Given the description of an element on the screen output the (x, y) to click on. 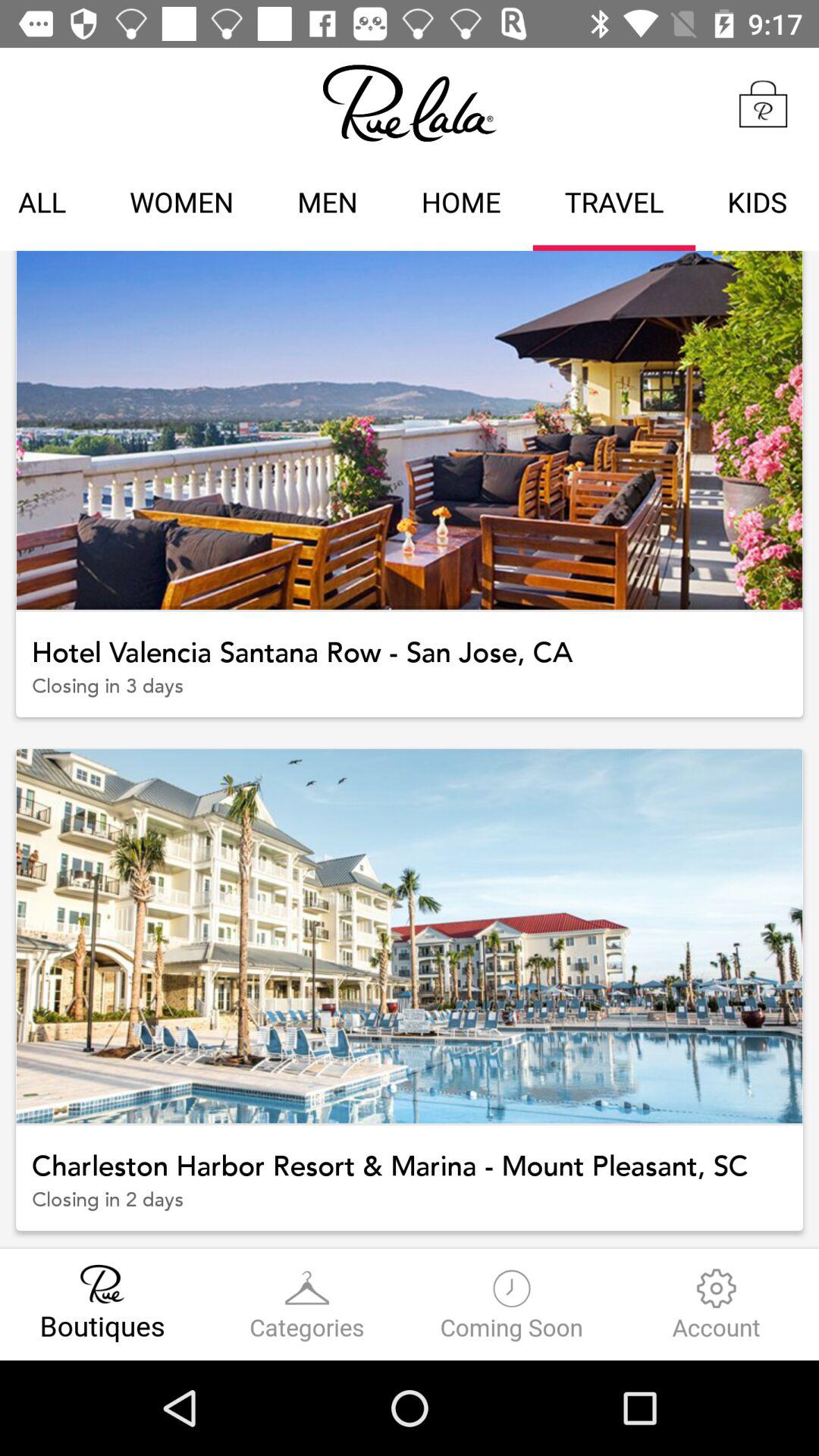
tap icon to the right of travel item (757, 204)
